Given the description of an element on the screen output the (x, y) to click on. 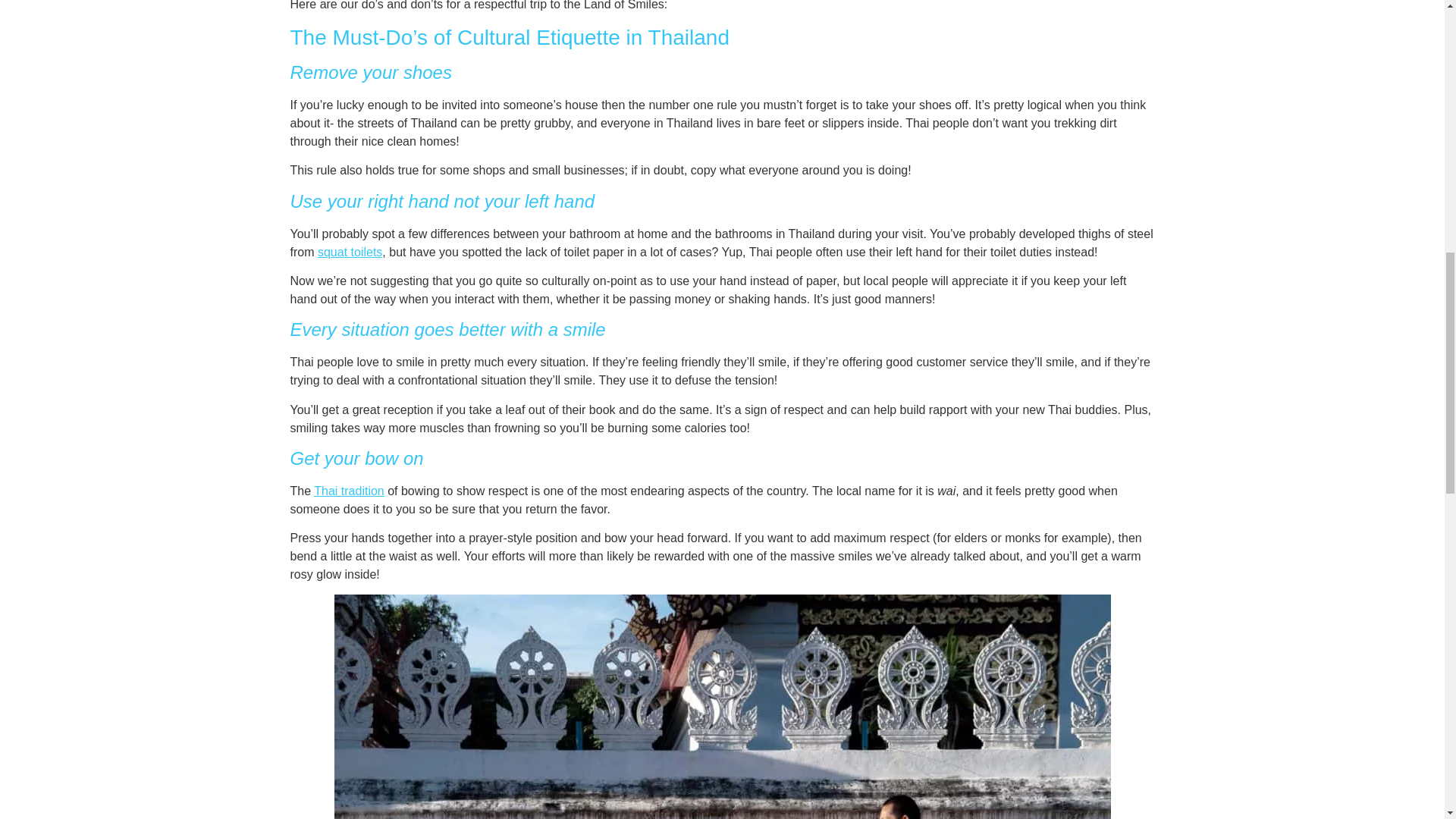
Thai tradition (349, 490)
squat toilets (349, 251)
